Given the description of an element on the screen output the (x, y) to click on. 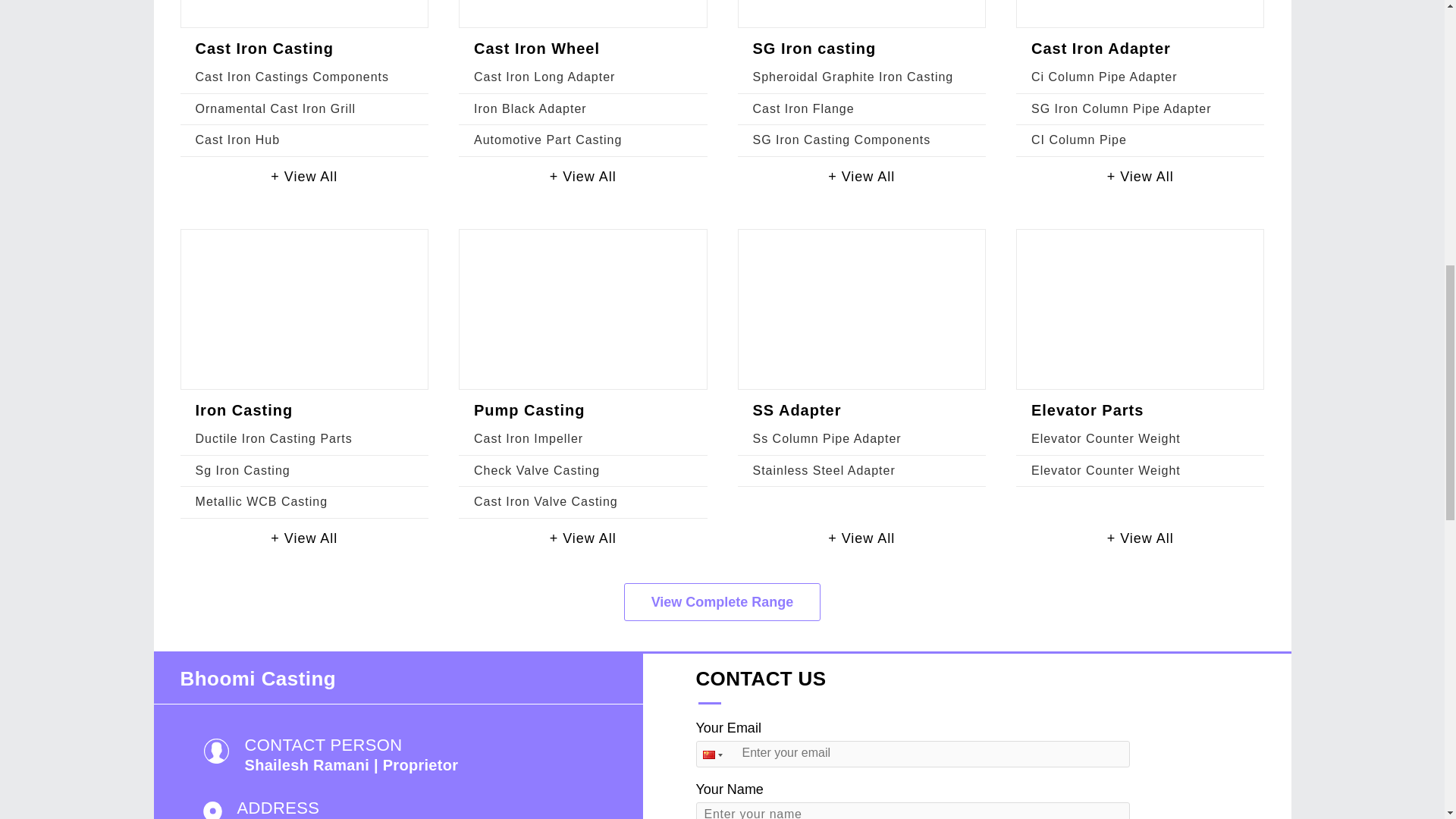
Ornamental Cast Iron Grill (275, 108)
Cast Iron Hub (238, 139)
Cast Iron Long Adapter (544, 76)
Spheroidal Graphite Iron Casting (852, 76)
Cast Iron Wheel (536, 48)
Cast Iron Castings Components (291, 76)
Iron Black Adapter (530, 108)
Cast Iron Flange (802, 108)
SG Iron Casting Components (841, 139)
SG Iron casting (814, 48)
